Given the description of an element on the screen output the (x, y) to click on. 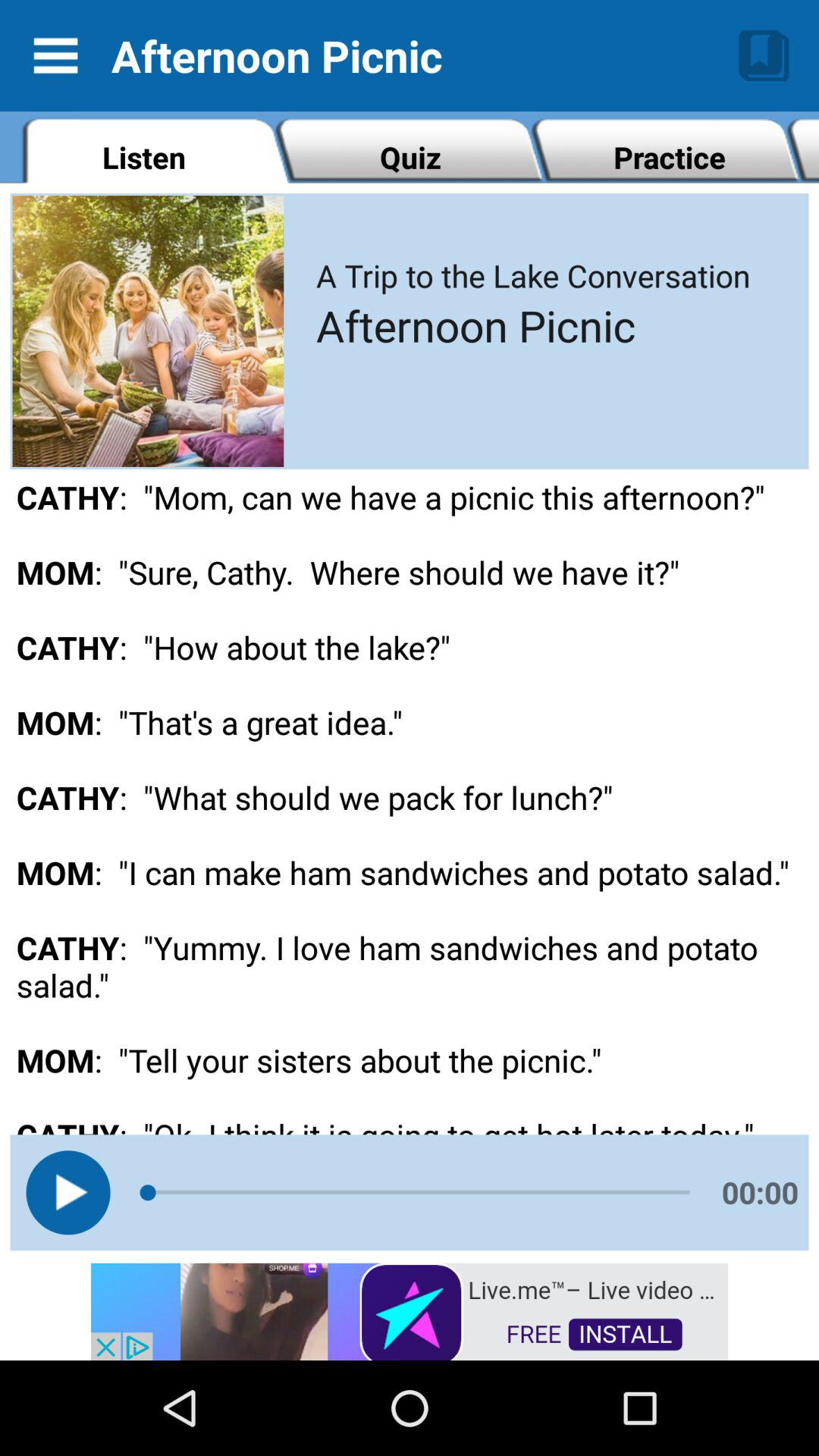
toggle play button (68, 1192)
